Given the description of an element on the screen output the (x, y) to click on. 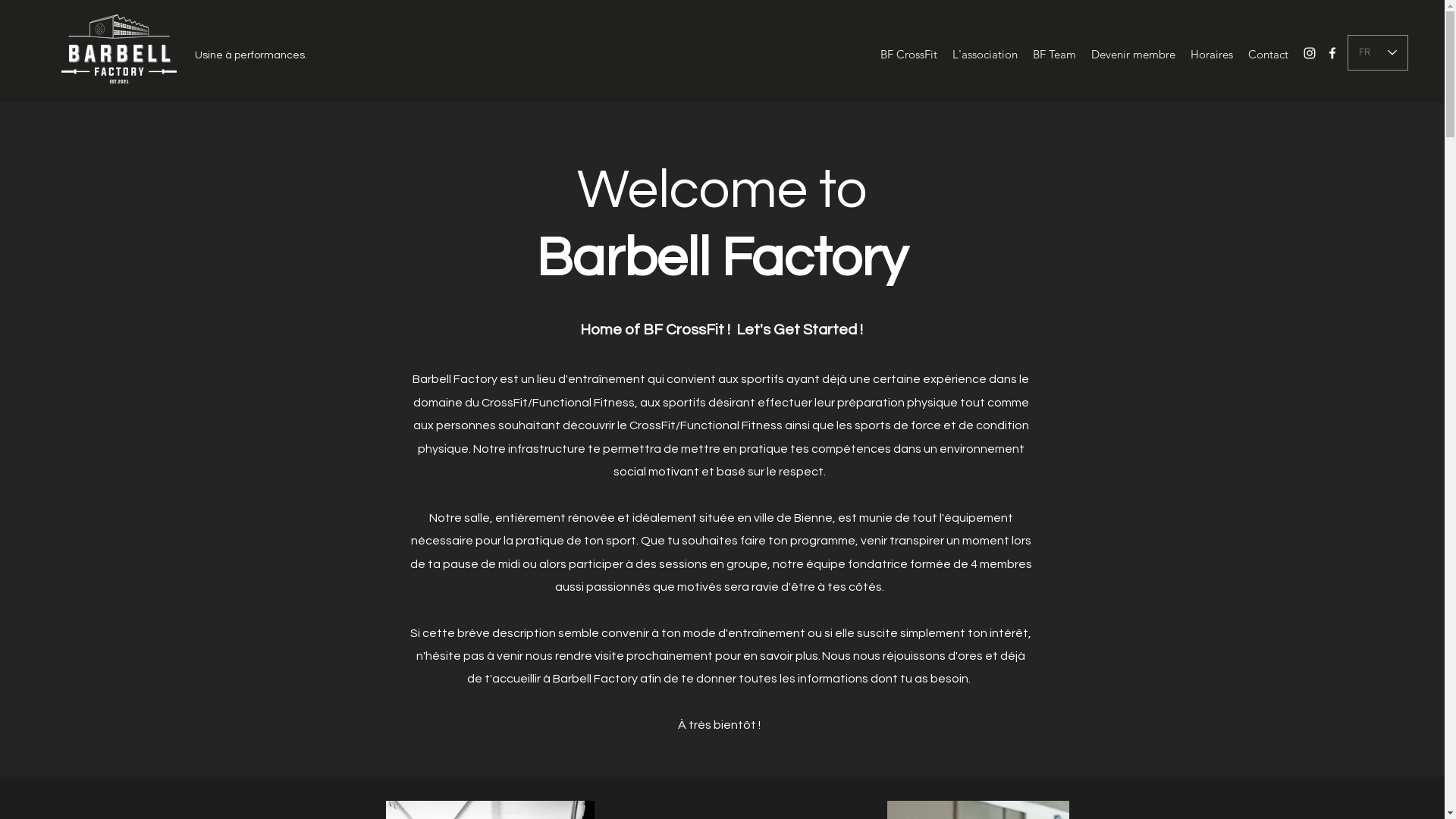
Devenir membre Element type: text (1133, 54)
L'association Element type: text (984, 54)
Contact Element type: text (1267, 54)
BF CrossFit Element type: text (908, 54)
BF Team Element type: text (1054, 54)
Horaires Element type: text (1211, 54)
